Given the description of an element on the screen output the (x, y) to click on. 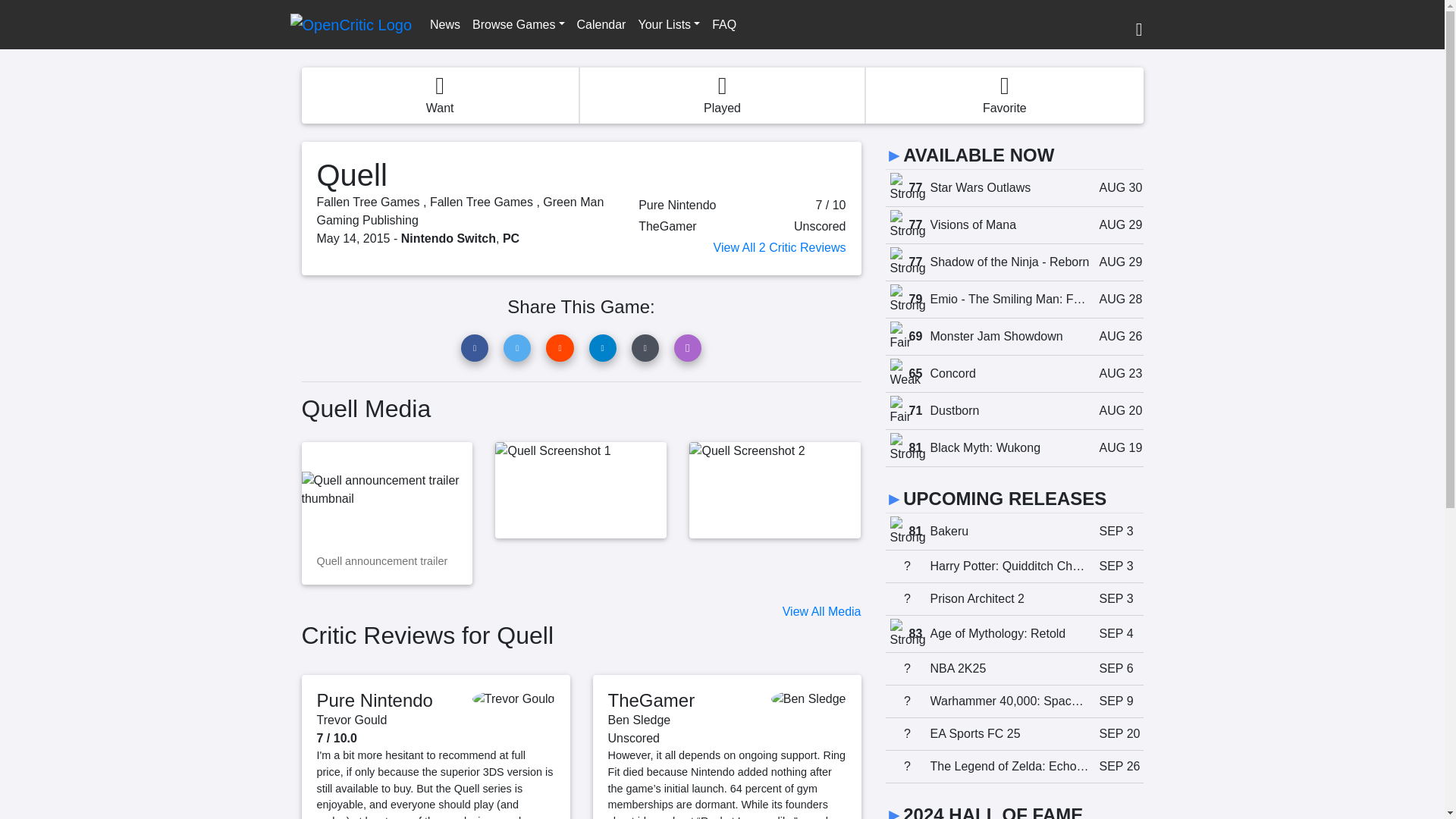
View All Media (822, 611)
TheGamer (651, 700)
Your Lists (668, 24)
Pure Nintendo (374, 700)
Trevor Gould (352, 719)
News (1013, 188)
Browse Games (444, 24)
View All 2 Critic Reviews (1013, 225)
